Given the description of an element on the screen output the (x, y) to click on. 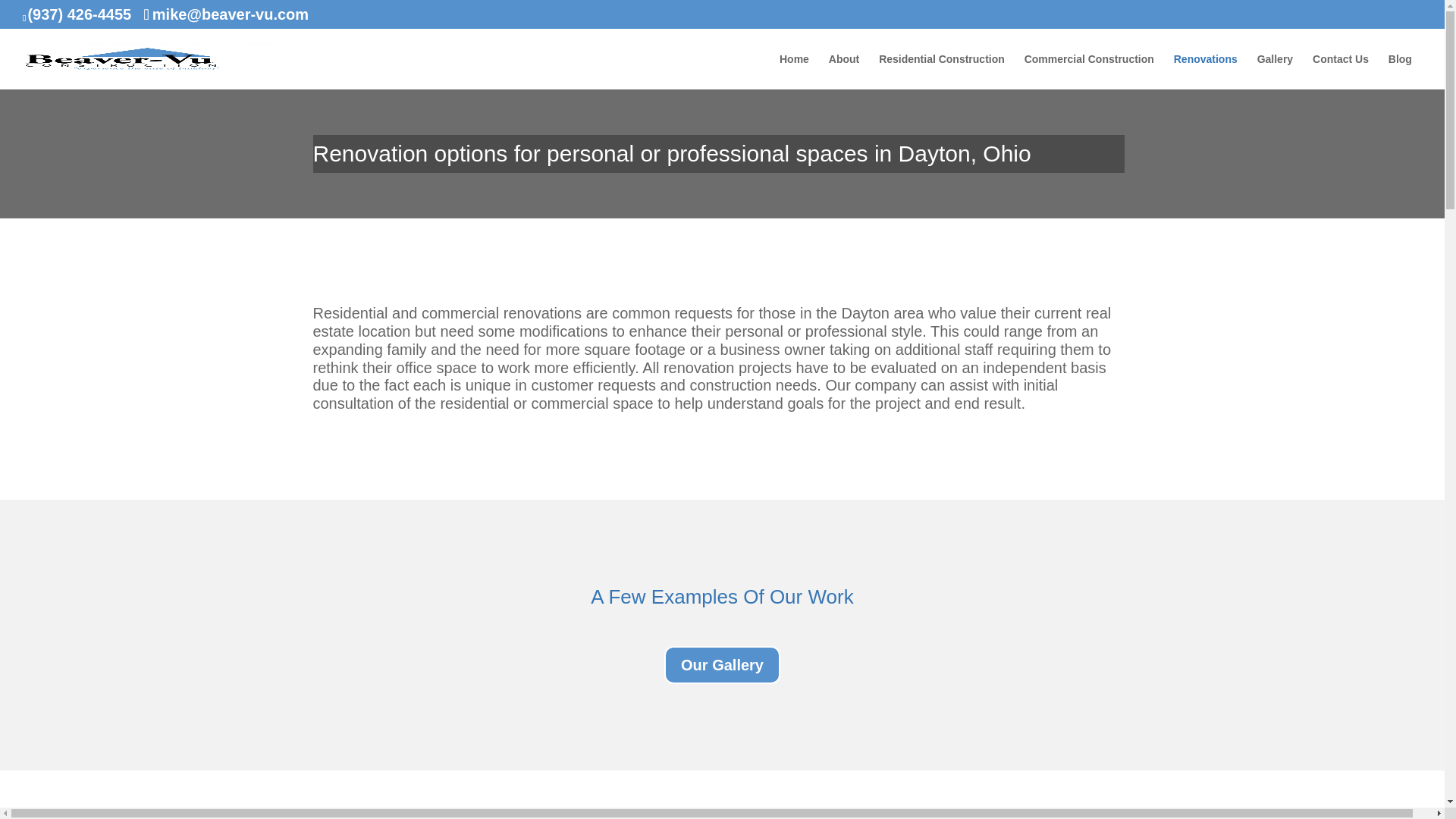
Contact Us (1340, 71)
Gallery (1274, 71)
Renovations (1205, 71)
Our Gallery (721, 664)
Residential Construction (941, 71)
Commercial Construction (1089, 71)
